Given the description of an element on the screen output the (x, y) to click on. 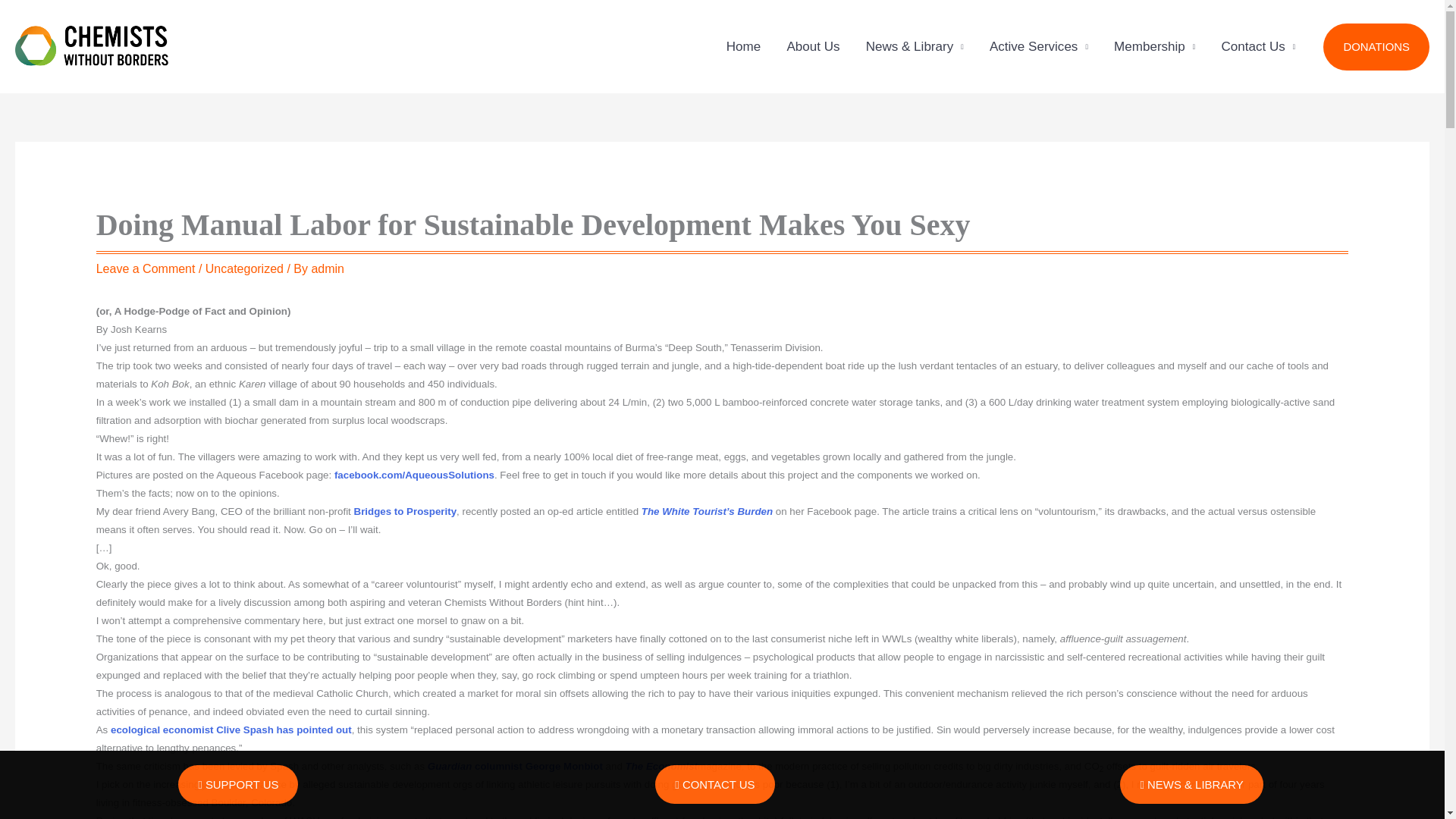
View all posts by admin (327, 268)
About Us (812, 46)
DONATIONS (1376, 46)
Active Services (1038, 46)
Membership (1154, 46)
Home (743, 46)
Contact Us (1257, 46)
